Given the description of an element on the screen output the (x, y) to click on. 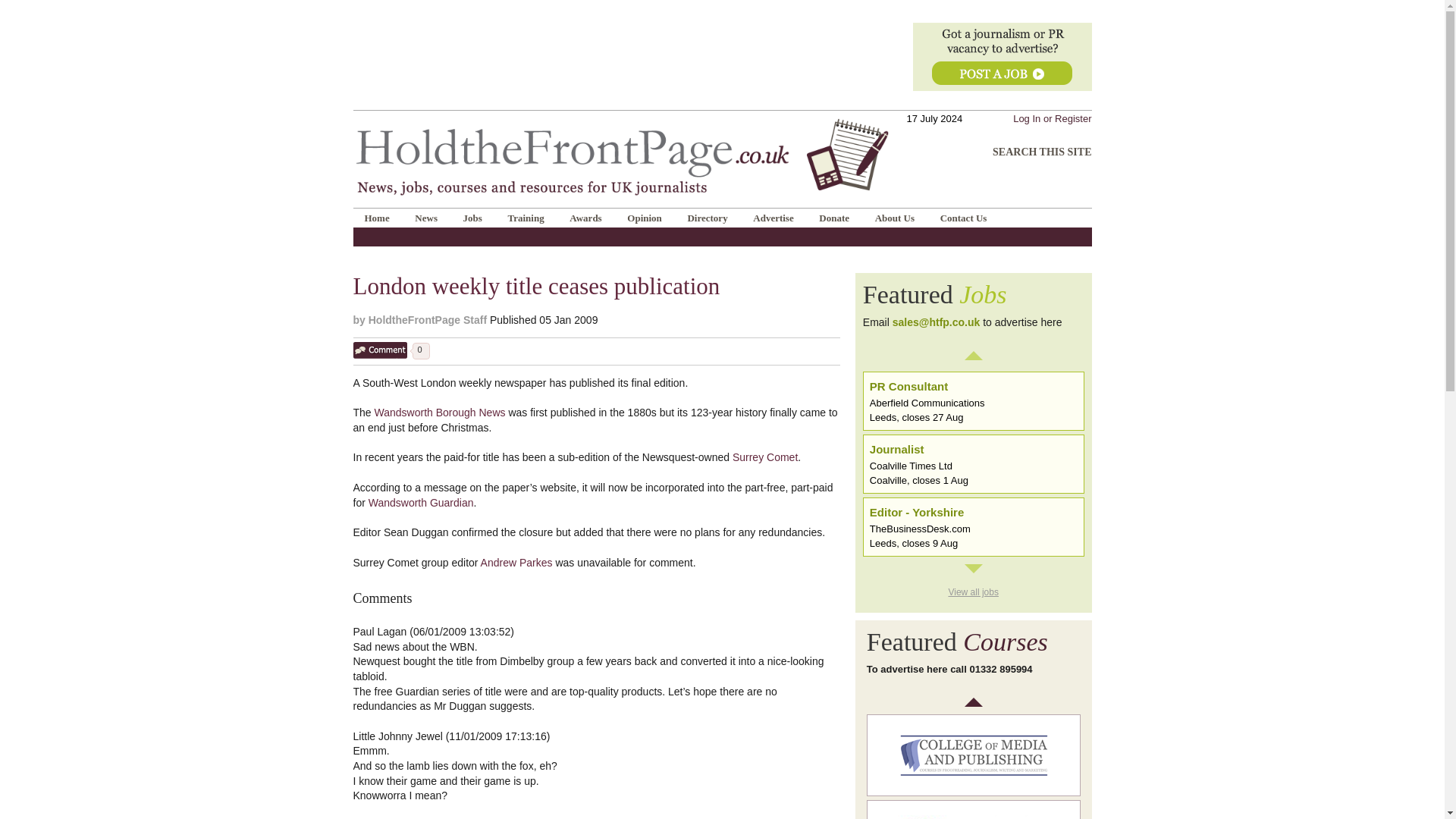
Wandsworth Guardian (421, 502)
HoldtheFrontPage (622, 116)
News (425, 217)
Home (377, 217)
Jobs (472, 217)
Andrew Parkes (516, 562)
Surrey Comet (764, 457)
Log In or Register (1051, 118)
Wandsworth Borough News (439, 412)
Latest journalism jobs (973, 294)
